Given the description of an element on the screen output the (x, y) to click on. 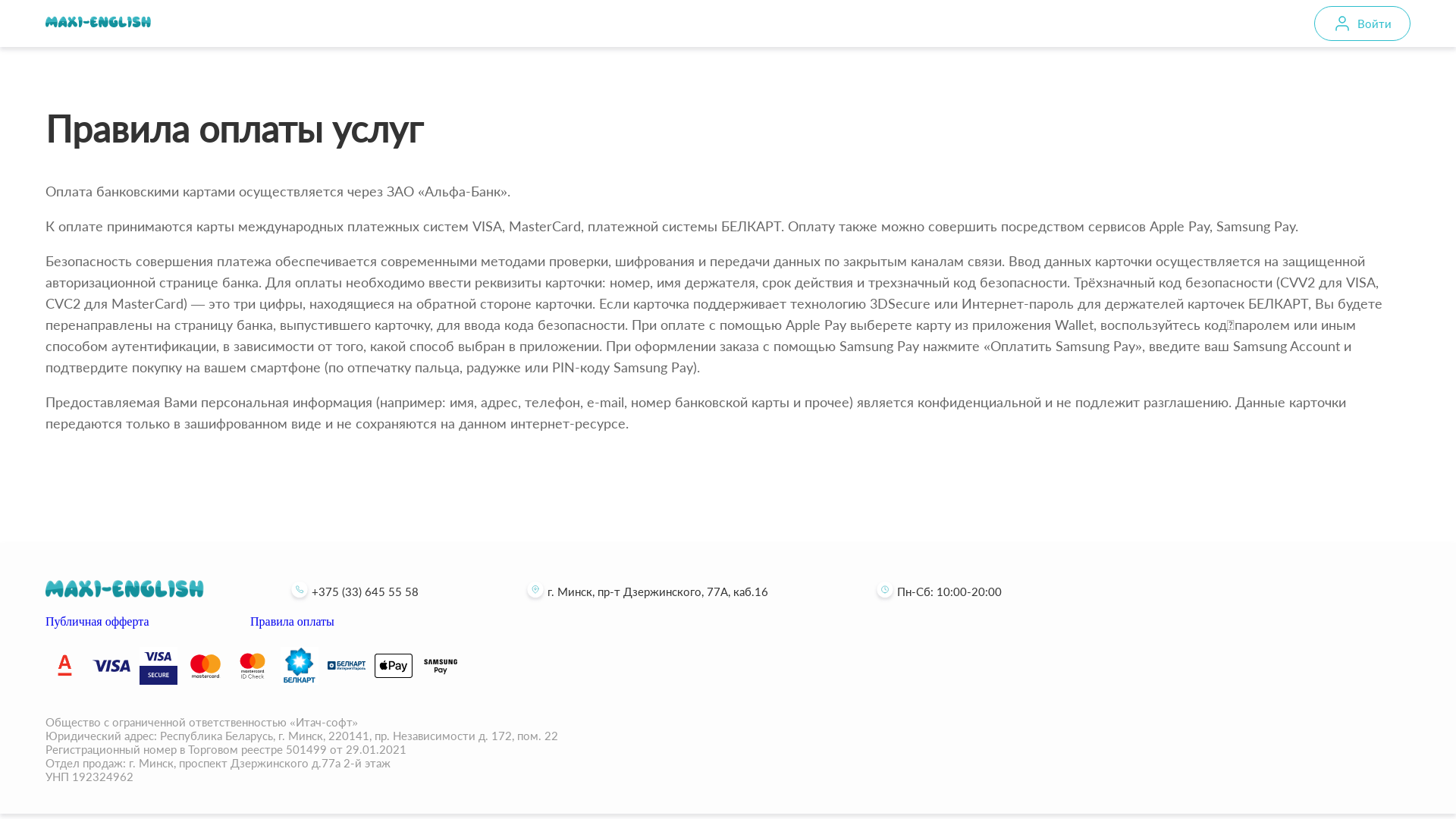
+375 (33) 645 55 58 Element type: text (352, 591)
